Given the description of an element on the screen output the (x, y) to click on. 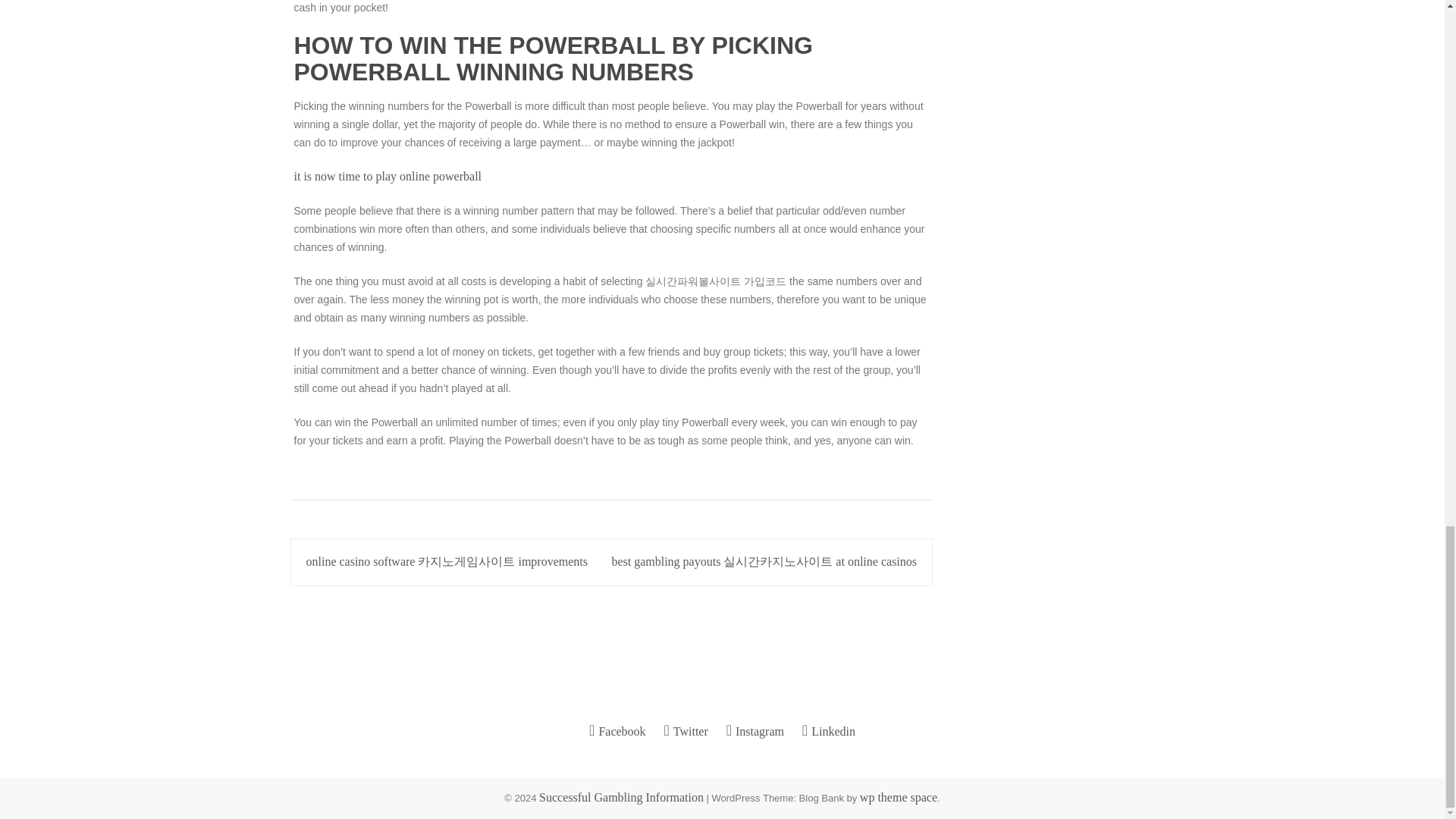
wp theme space (898, 797)
it is now time to play online powerball (387, 175)
Instagram (755, 730)
Successful Gambling Information (620, 797)
Twitter (685, 730)
Linkedin (829, 730)
Facebook (617, 730)
